Given the description of an element on the screen output the (x, y) to click on. 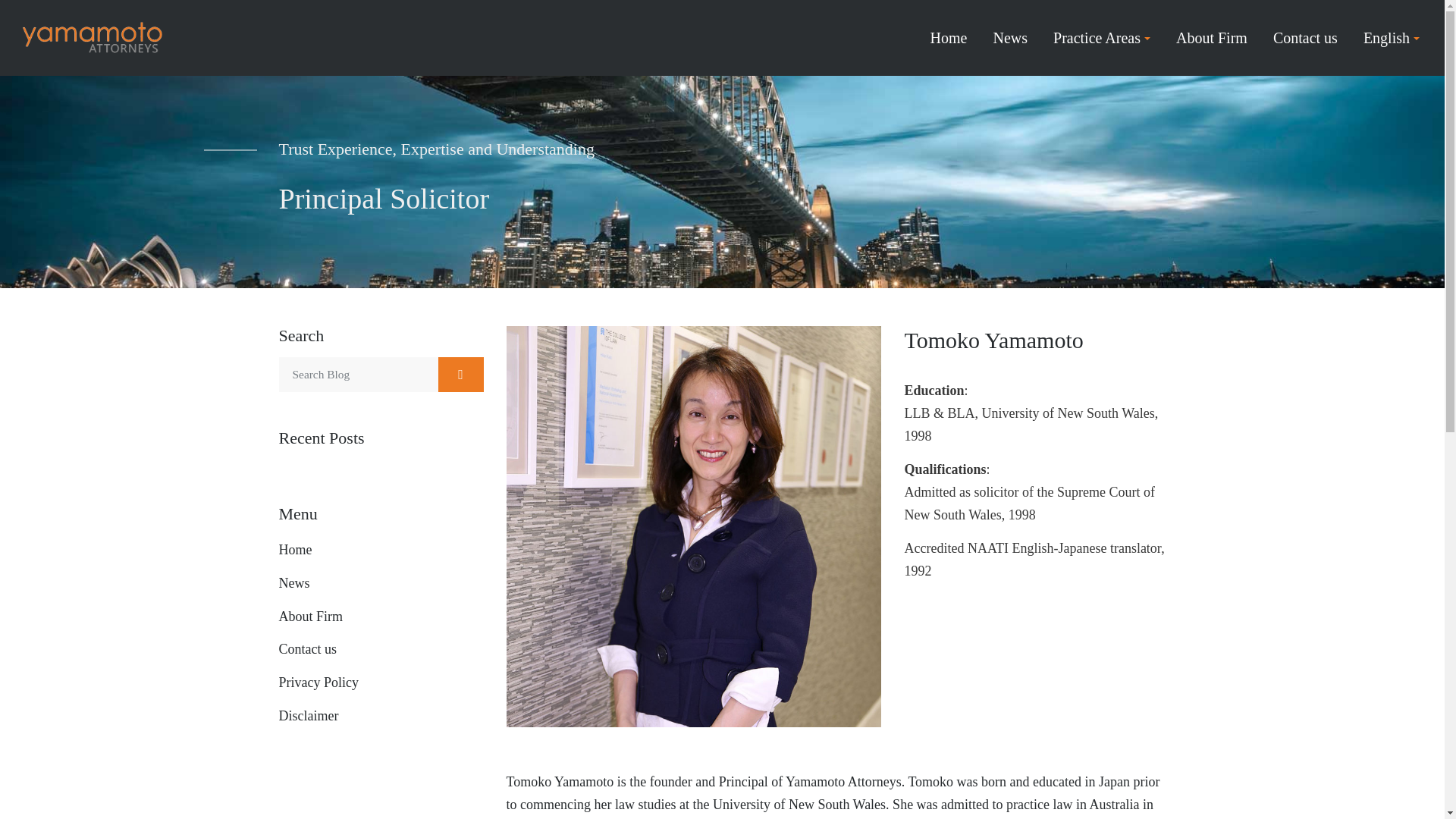
Contact us (1304, 38)
Practice Areas (1100, 38)
English (1391, 38)
About Firm (1211, 38)
English (1391, 38)
